Given the description of an element on the screen output the (x, y) to click on. 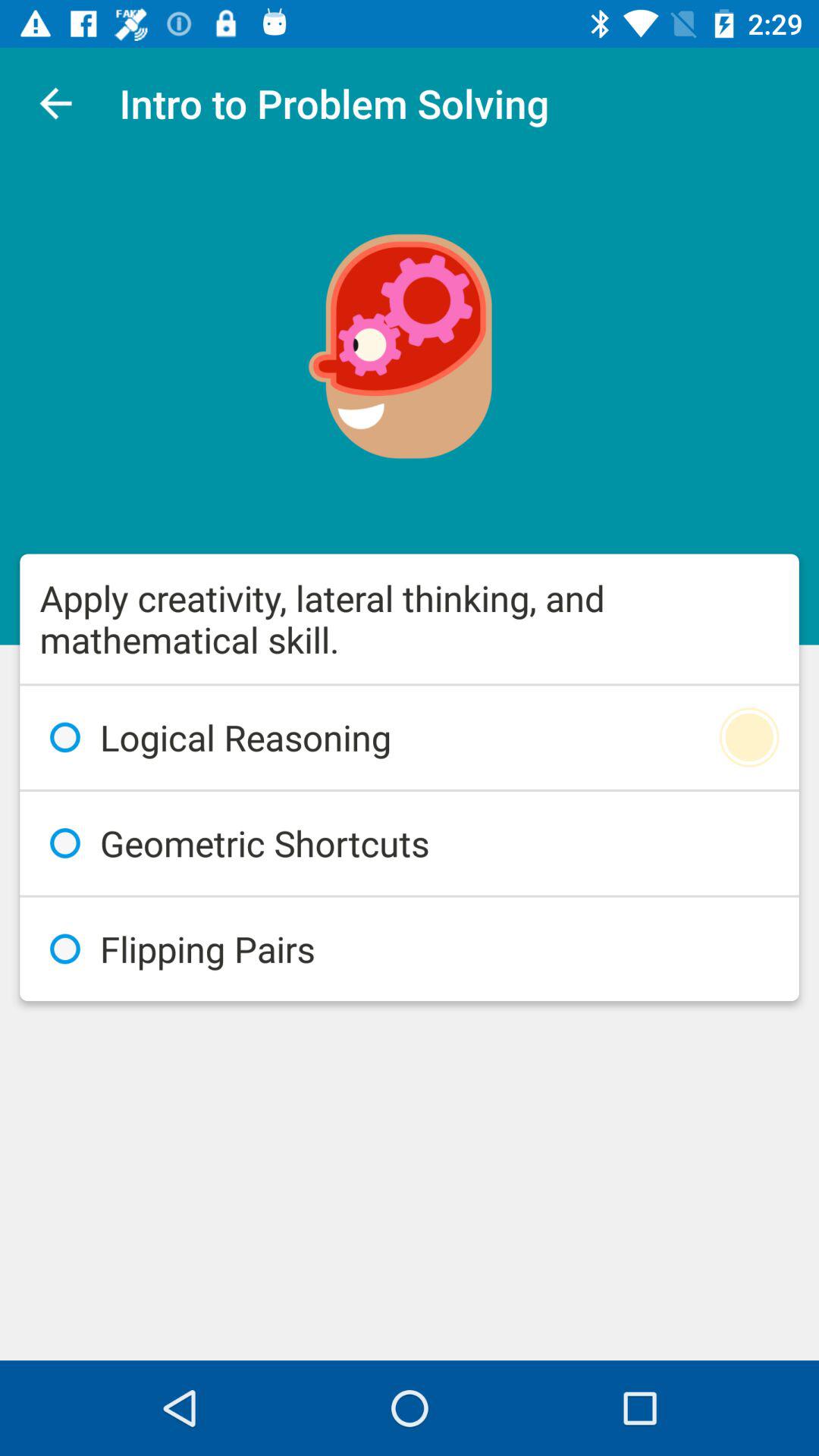
turn on item at the top left corner (55, 103)
